Given the description of an element on the screen output the (x, y) to click on. 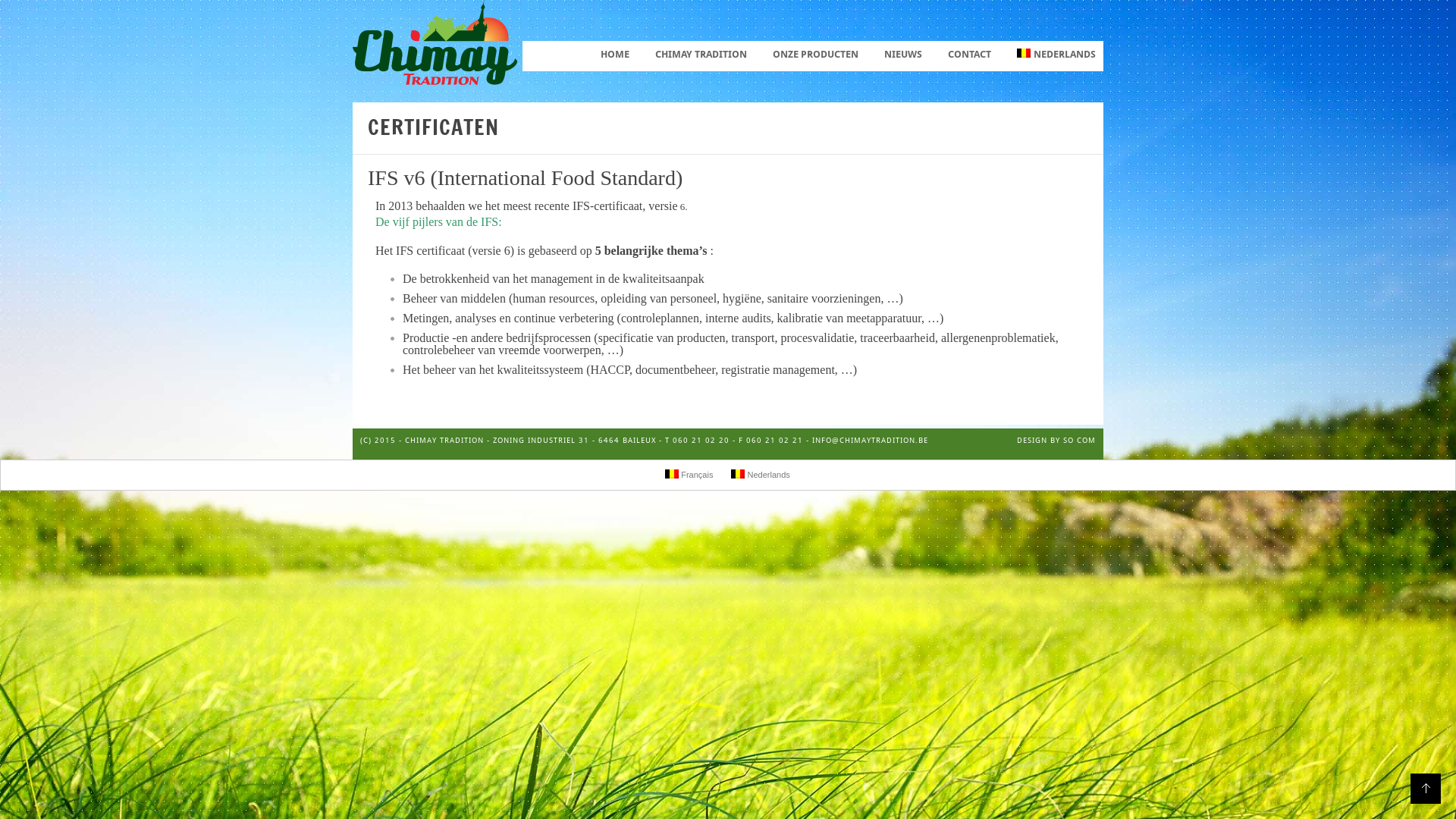
NIEUWS Element type: text (903, 54)
CHIMAY TRADITION Element type: text (700, 54)
ONZE PRODUCTEN Element type: text (815, 54)
 Nederlands Element type: text (760, 474)
NEDERLANDS Element type: text (1055, 54)
SO COM Element type: text (1079, 440)
HOME Element type: text (614, 54)
CONTACT Element type: text (969, 54)
